Given the description of an element on the screen output the (x, y) to click on. 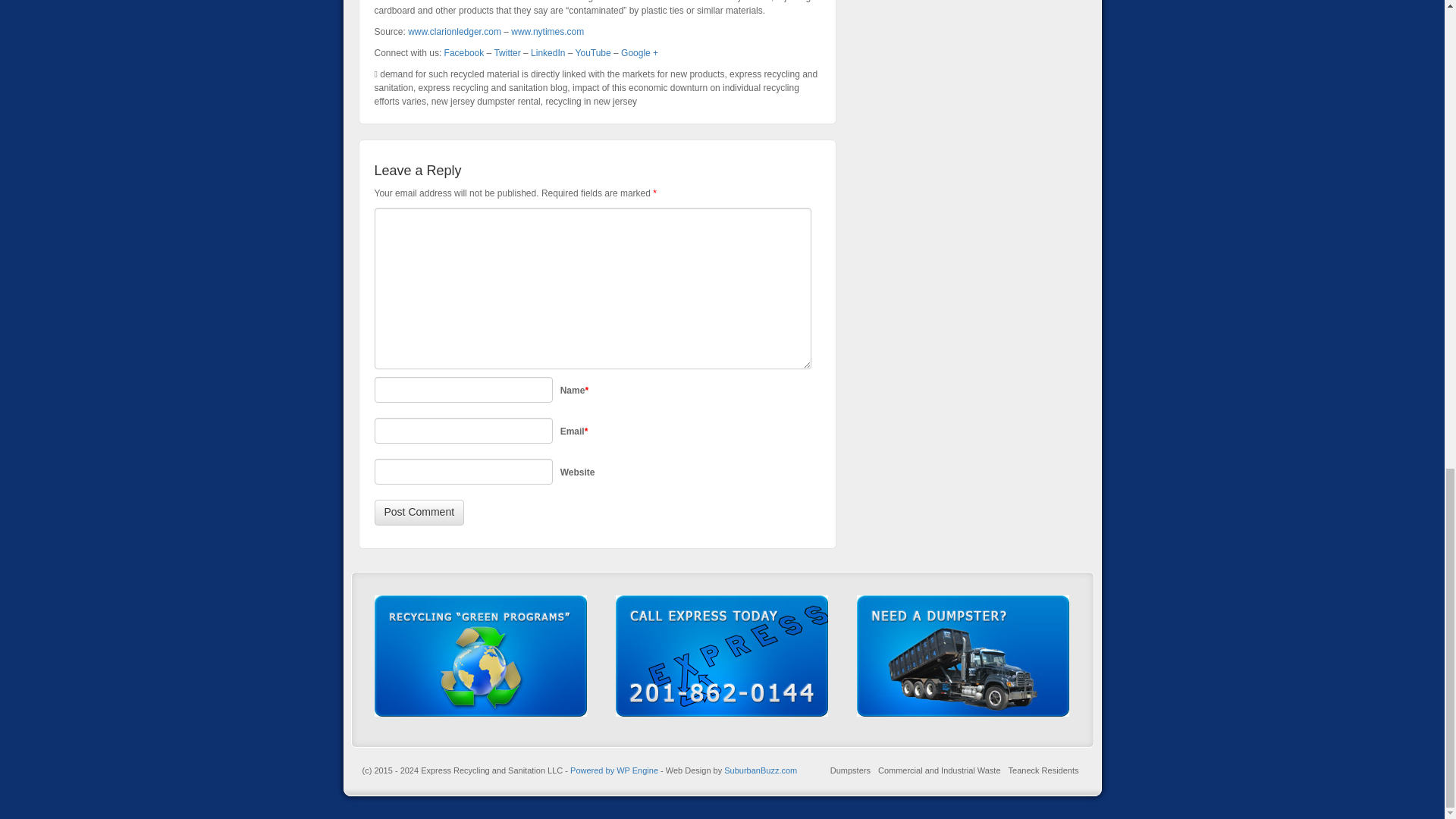
Post Comment (419, 512)
express recycling and sanitation blog (493, 87)
new jersey dumpster rental (485, 101)
www.nytimes.com (547, 31)
SuburbanBuzz.com (759, 769)
Twitter (506, 52)
express recycling and sanitation (596, 80)
YouTube (593, 52)
Dumpsters (849, 769)
